Given the description of an element on the screen output the (x, y) to click on. 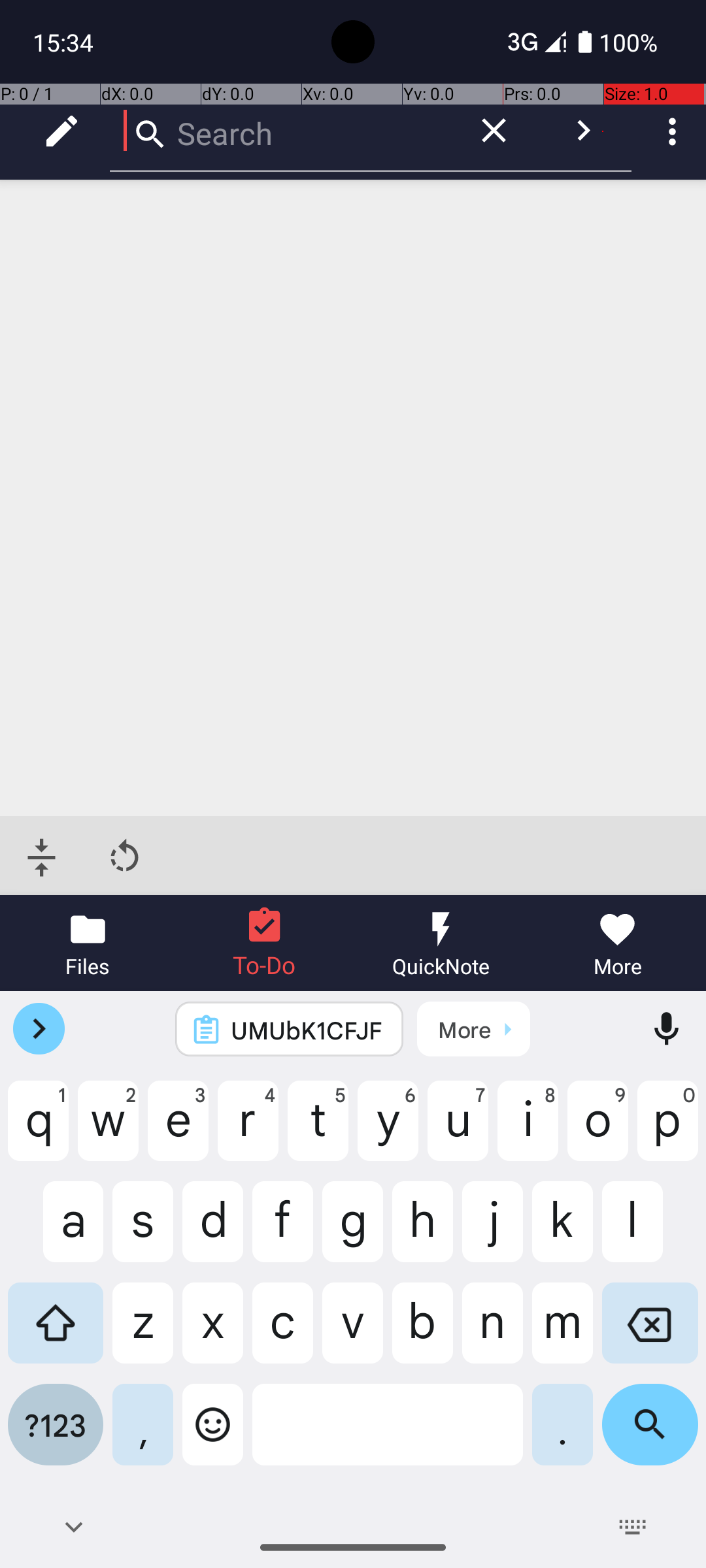
Edit mode Element type: android.widget.TextView (61, 131)
   Search Element type: android.widget.AutoCompleteTextView (280, 130)
Clear query Element type: android.widget.ImageView (493, 130)
Submit query Element type: android.widget.ImageView (583, 130)
Jump to bottom Element type: android.widget.ImageView (41, 857)
Rotate Element type: android.widget.ImageView (124, 857)
UMUbK1CFJF Element type: android.widget.TextView (306, 1029)
